Given the description of an element on the screen output the (x, y) to click on. 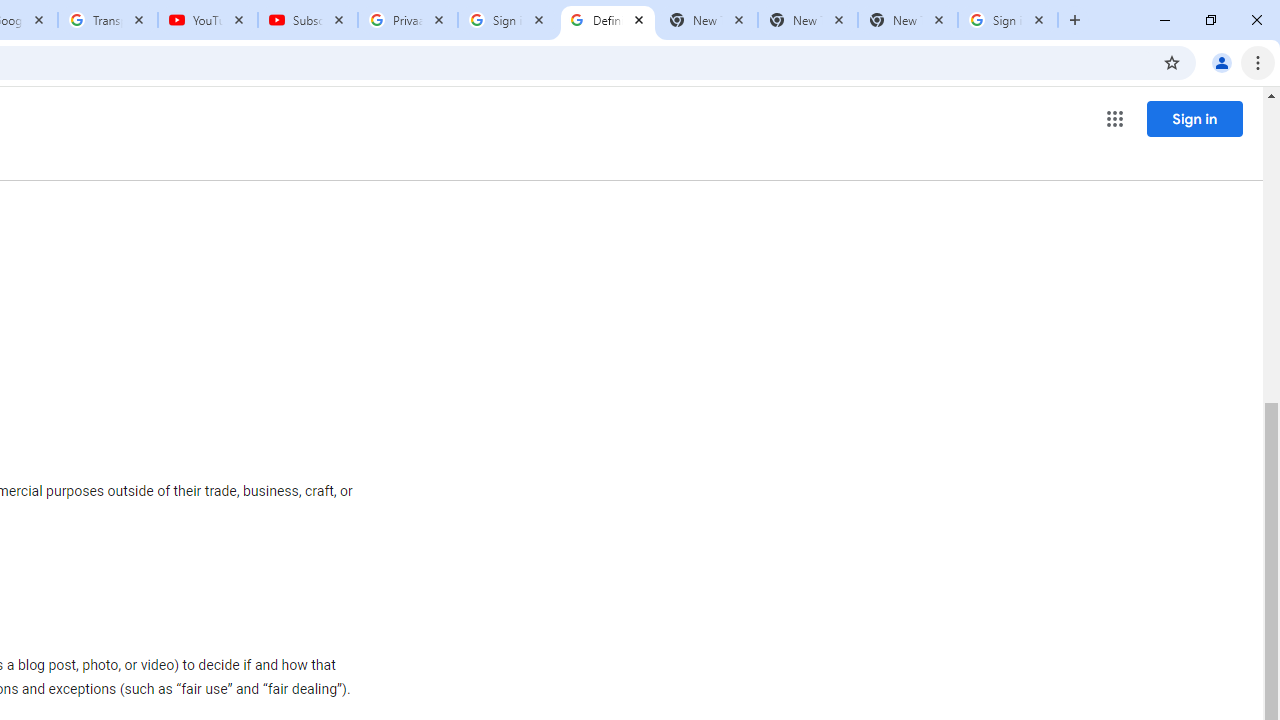
Subscriptions - YouTube (308, 20)
Sign in - Google Accounts (1007, 20)
New Tab (907, 20)
YouTube (207, 20)
